Given the description of an element on the screen output the (x, y) to click on. 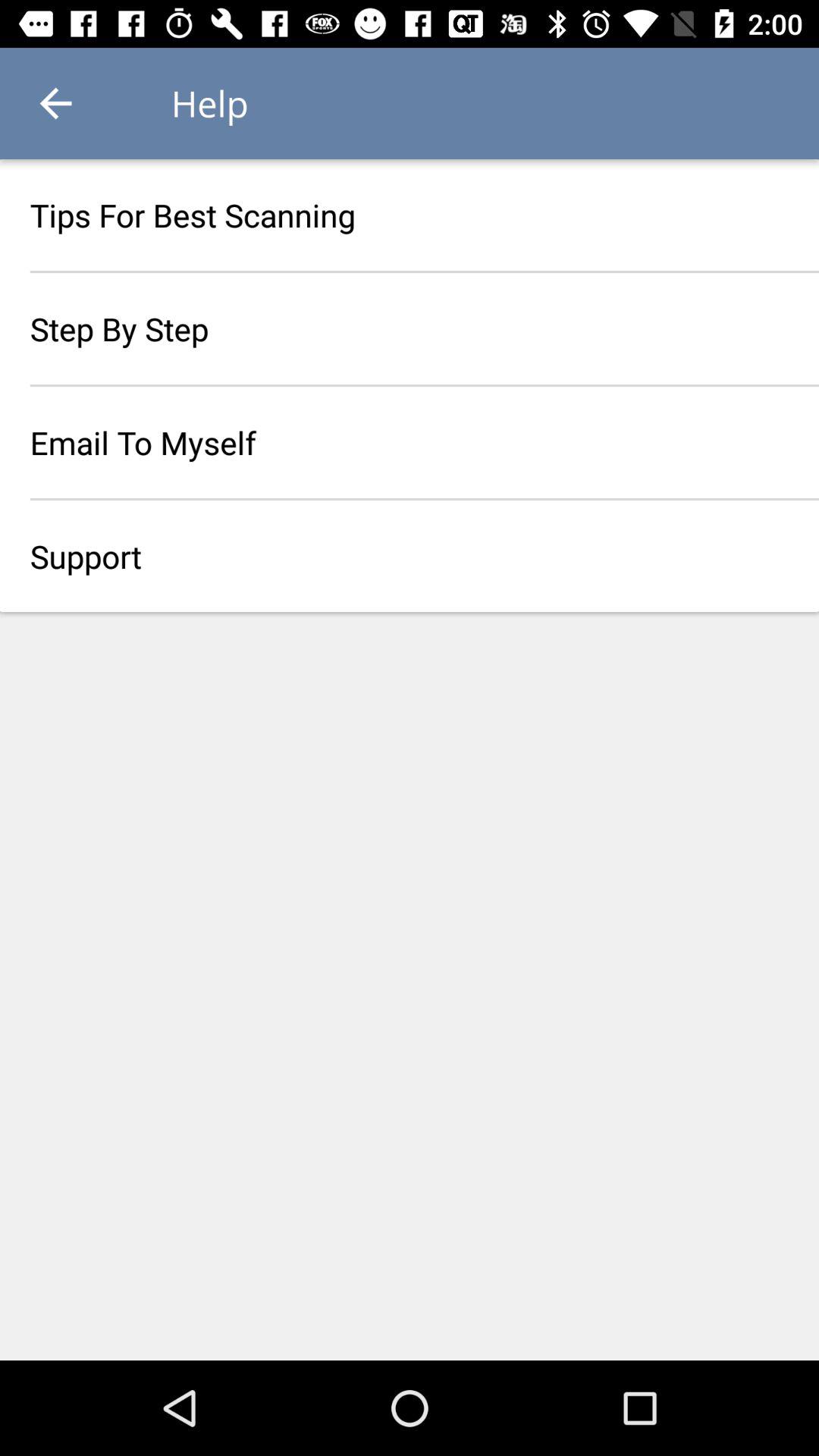
tap the email to myself item (409, 442)
